Given the description of an element on the screen output the (x, y) to click on. 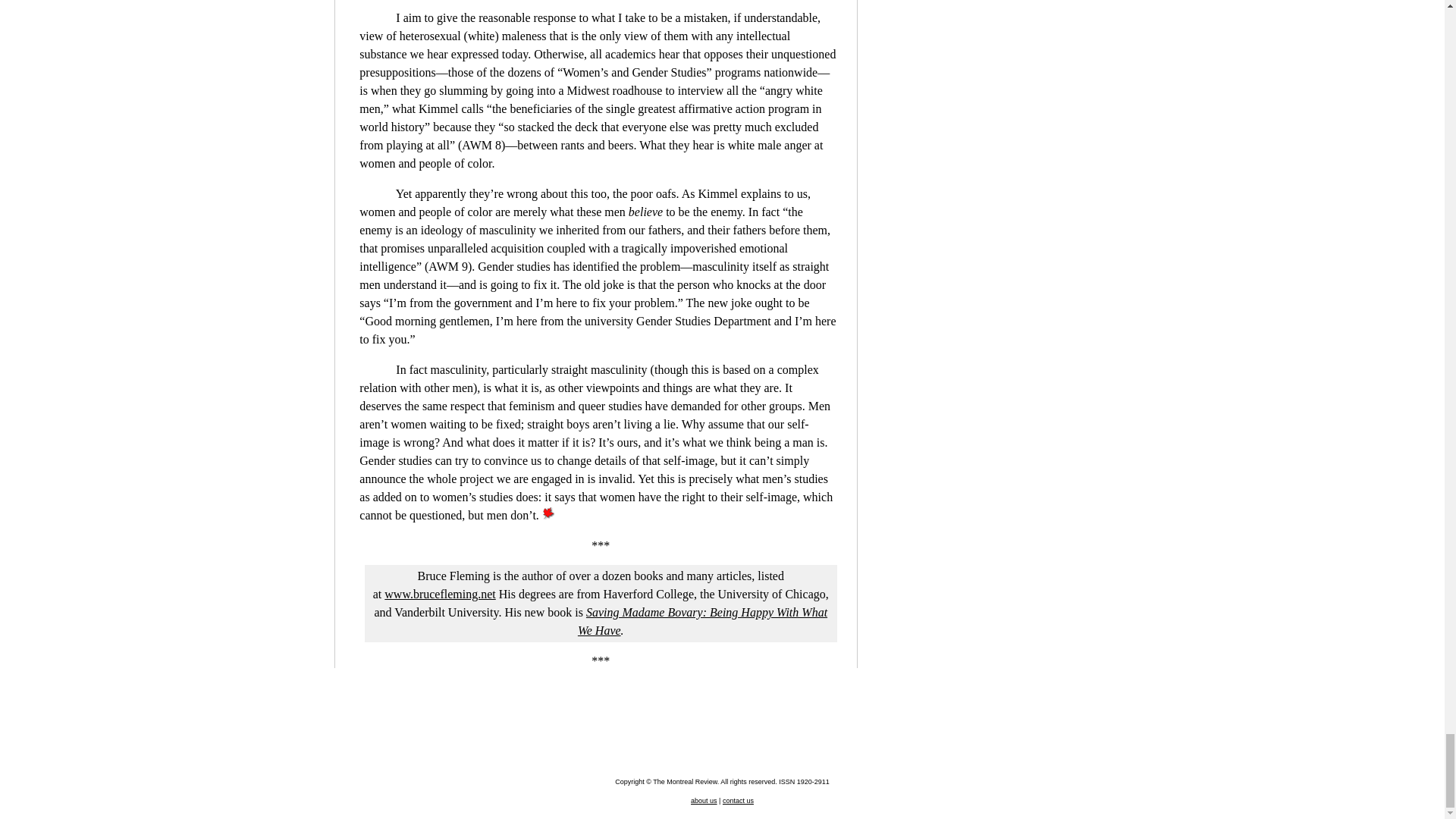
Saving Madame Bovary: Being Happy With What We Have (702, 621)
www.brucefleming.net (439, 594)
about us (703, 800)
contact us (738, 800)
